Given the description of an element on the screen output the (x, y) to click on. 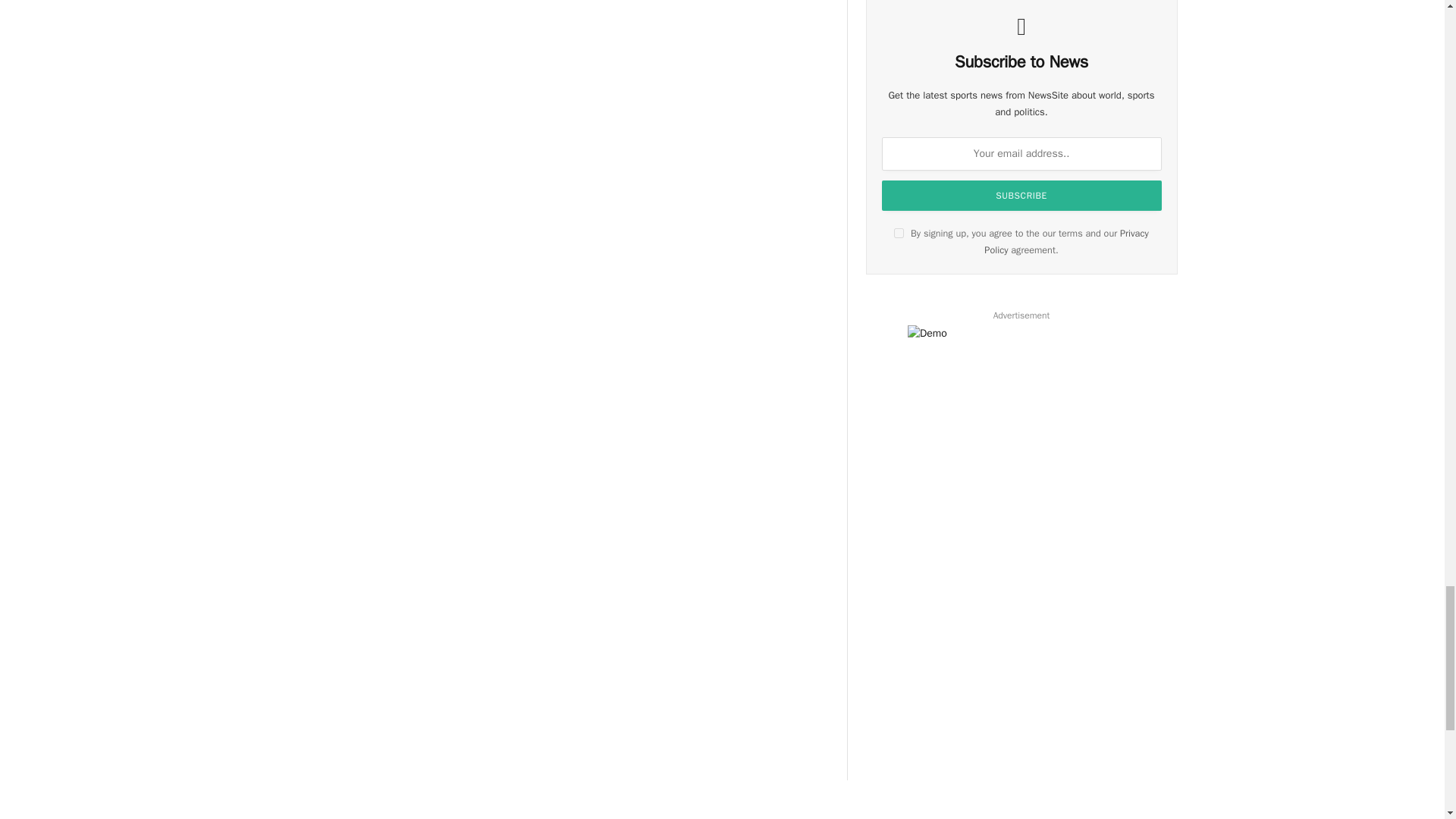
on (898, 233)
Subscribe (1021, 195)
